Given the description of an element on the screen output the (x, y) to click on. 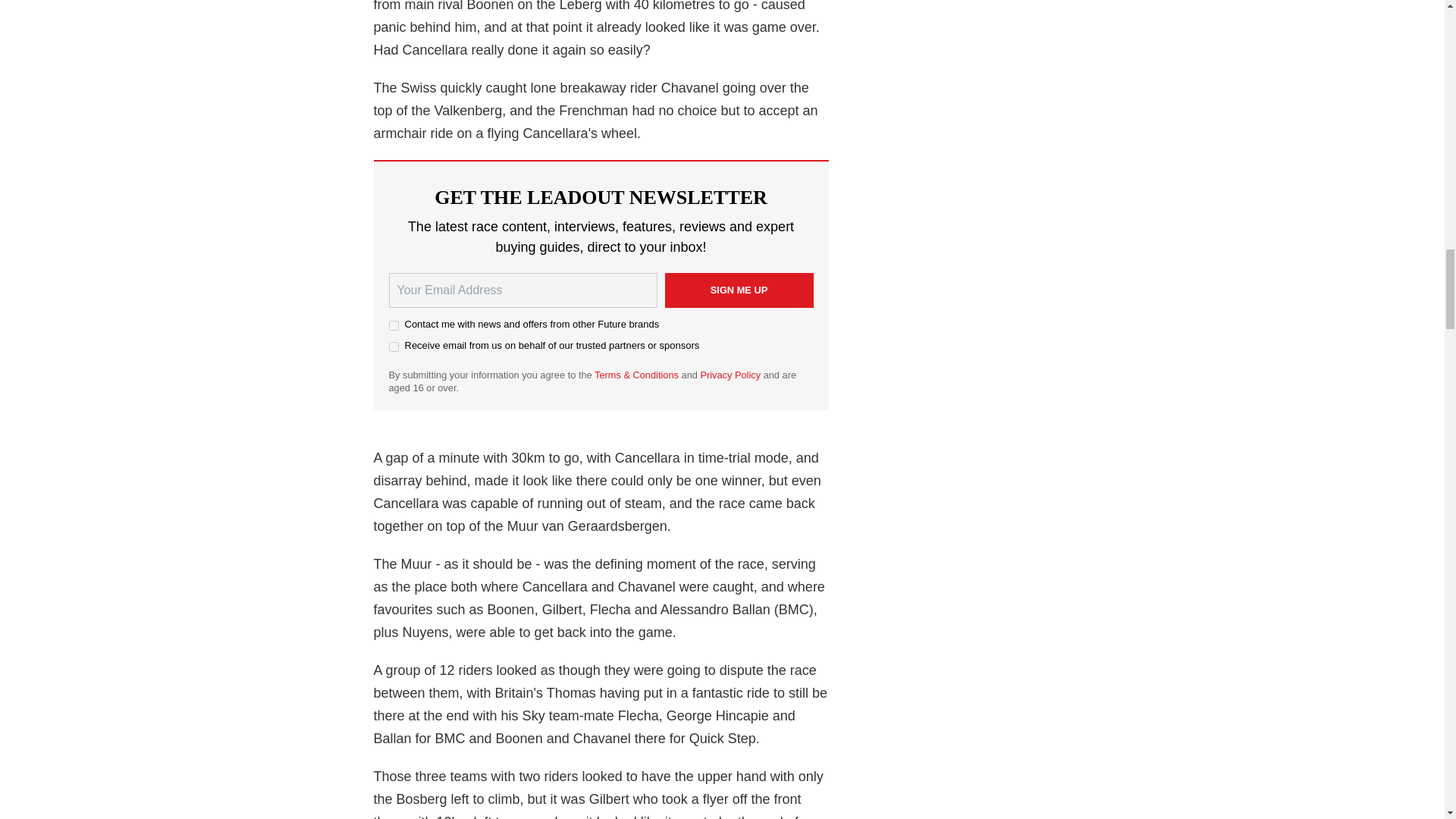
on (392, 347)
Sign me up (737, 289)
on (392, 325)
